Given the description of an element on the screen output the (x, y) to click on. 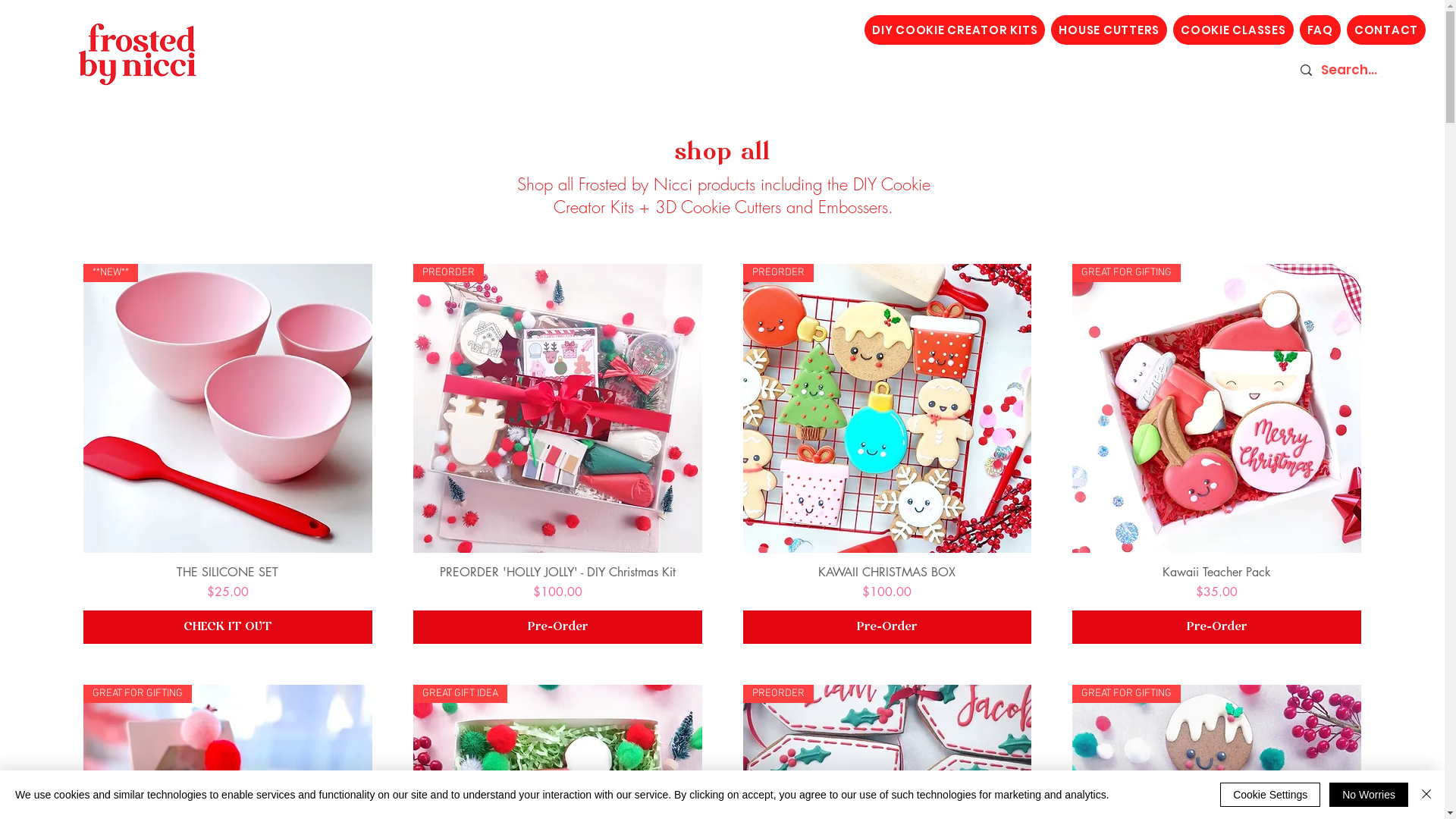
Cookie Settings Element type: text (1270, 794)
KAWAII CHRISTMAS BOX
Price
$100.00 Element type: text (887, 582)
HOUSE CUTTERS Element type: text (1109, 29)
Pre-Order Element type: text (1216, 627)
PREORDER 'HOLLY JOLLY' - DIY Christmas Kit
Price
$100.00 Element type: text (557, 582)
FAQ Element type: text (1319, 29)
CHECK IT OUT Element type: text (227, 627)
CONTACT Element type: text (1385, 29)
Pre-Order Element type: text (557, 627)
PREORDER Element type: text (557, 407)
Kawaii Teacher Pack
Price
$35.00 Element type: text (1216, 582)
**NEW** Element type: text (227, 407)
THE SILICONE SET
Price
$25.00 Element type: text (227, 582)
GREAT FOR GIFTING Element type: text (1216, 407)
Pre-Order Element type: text (887, 627)
DIY COOKIE CREATOR KITS Element type: text (954, 29)
PREORDER Element type: text (887, 407)
COOKIE CLASSES Element type: text (1233, 29)
No Worries Element type: text (1368, 794)
